Given the description of an element on the screen output the (x, y) to click on. 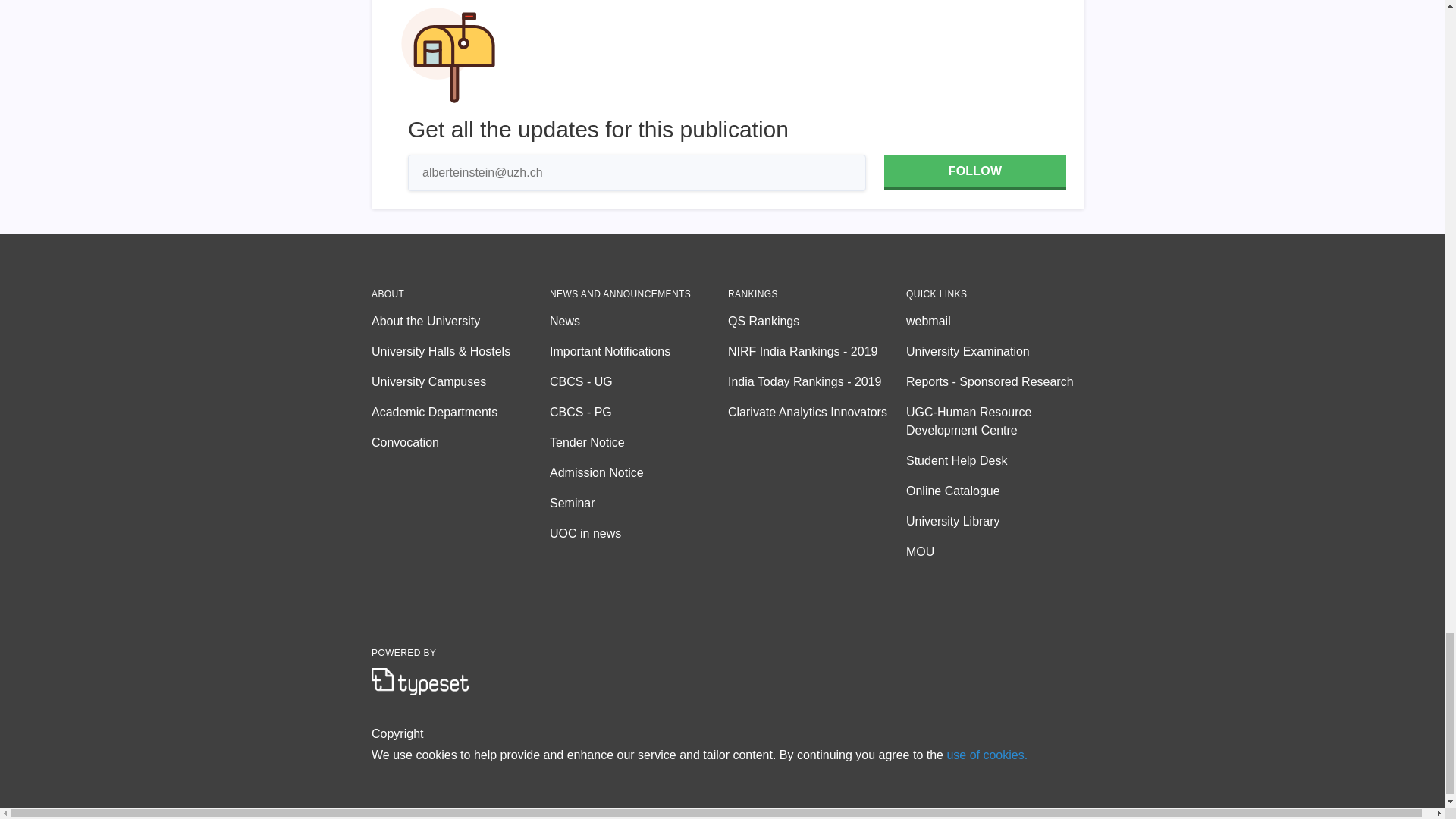
News (639, 321)
Subscribe form hero illustration (448, 56)
About the University (460, 321)
Logo of Typeset (419, 681)
Academic Departments (460, 412)
FOLLOW (974, 171)
Convocation (460, 443)
University Campuses (460, 382)
